Given the description of an element on the screen output the (x, y) to click on. 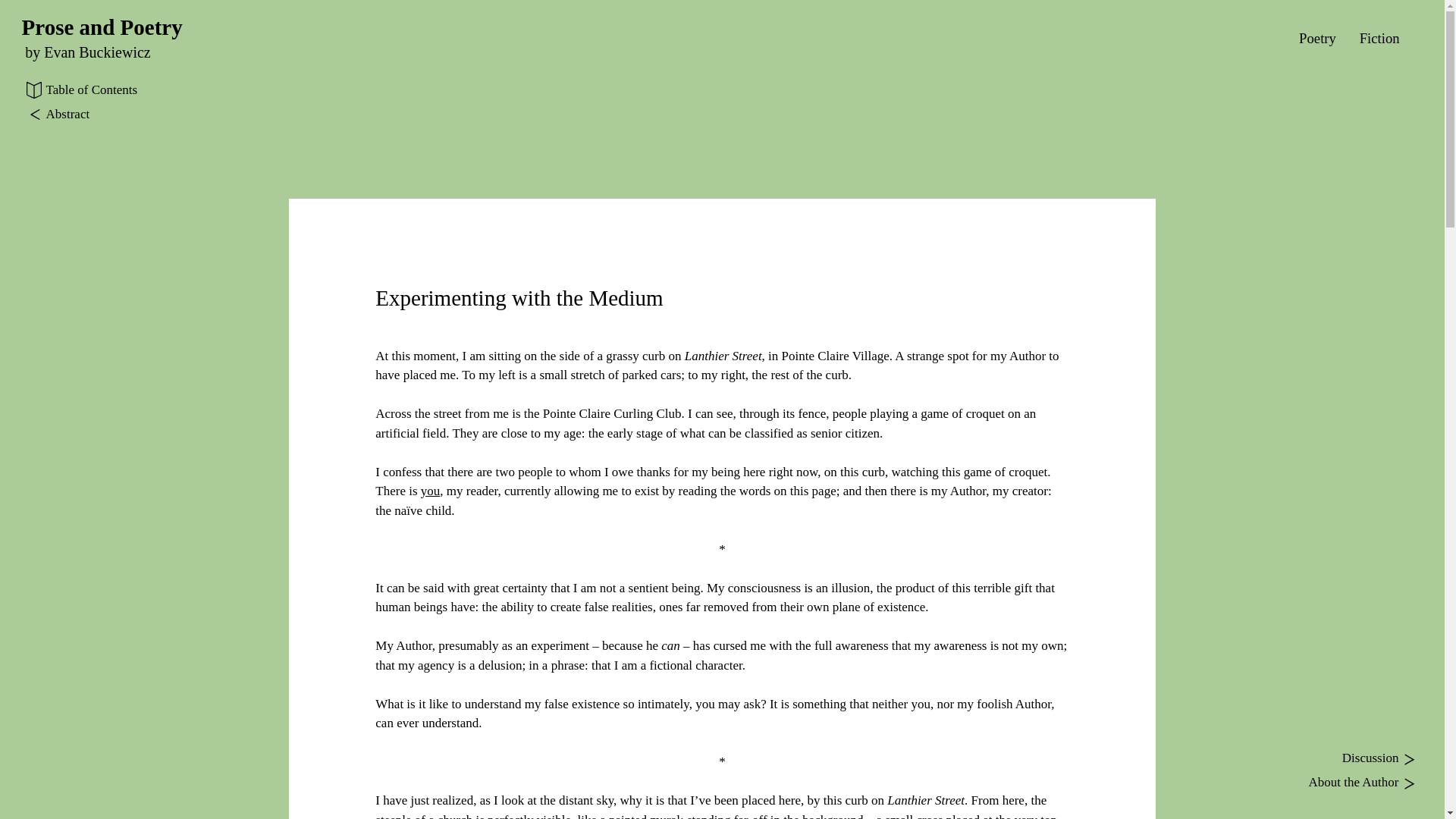
Prose and Poetry (102, 27)
Poetry (1317, 37)
Fiction (1379, 37)
